Given the description of an element on the screen output the (x, y) to click on. 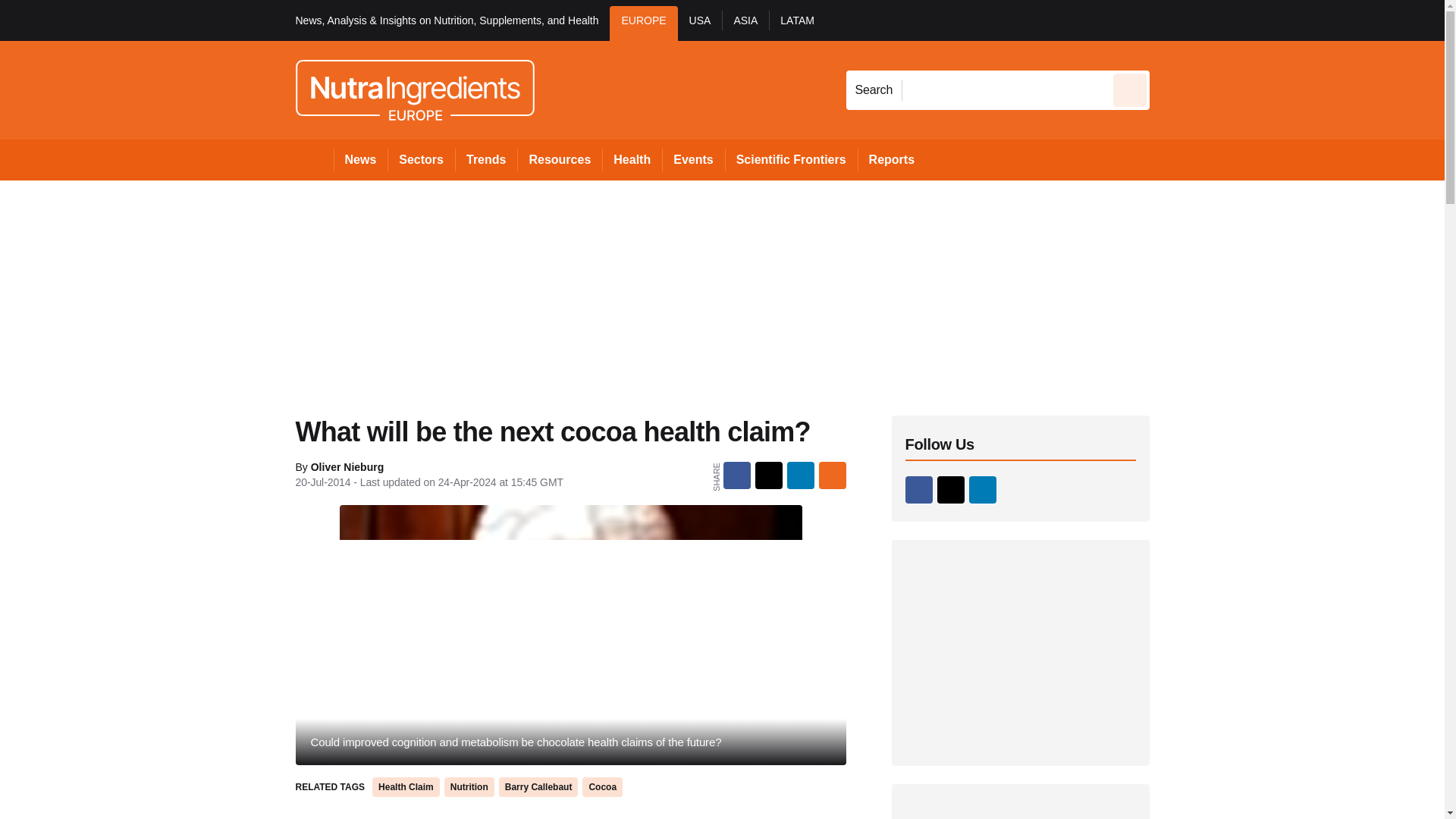
Home (314, 159)
Register (1231, 20)
LATAM (796, 22)
Sign in (1171, 20)
NutraIngredients Europe (414, 89)
Sectors (420, 159)
Send (1129, 90)
EUROPE (643, 22)
Send (1129, 89)
3rd party ad content (1020, 810)
